Given the description of an element on the screen output the (x, y) to click on. 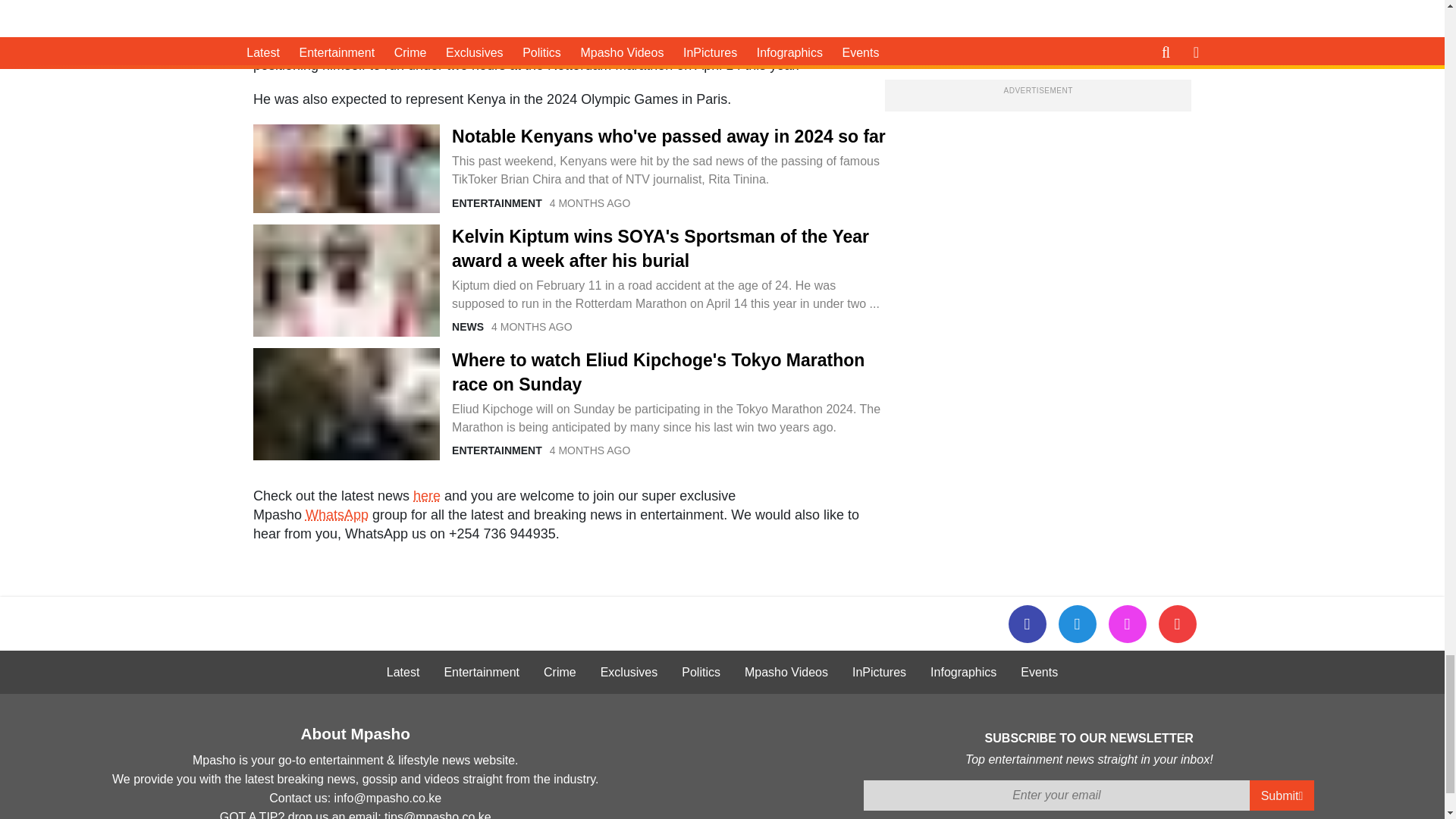
Eliud Kipchoge (346, 404)
here (427, 495)
WhatsApp (336, 514)
Kelvin Kiptum (346, 280)
